Given the description of an element on the screen output the (x, y) to click on. 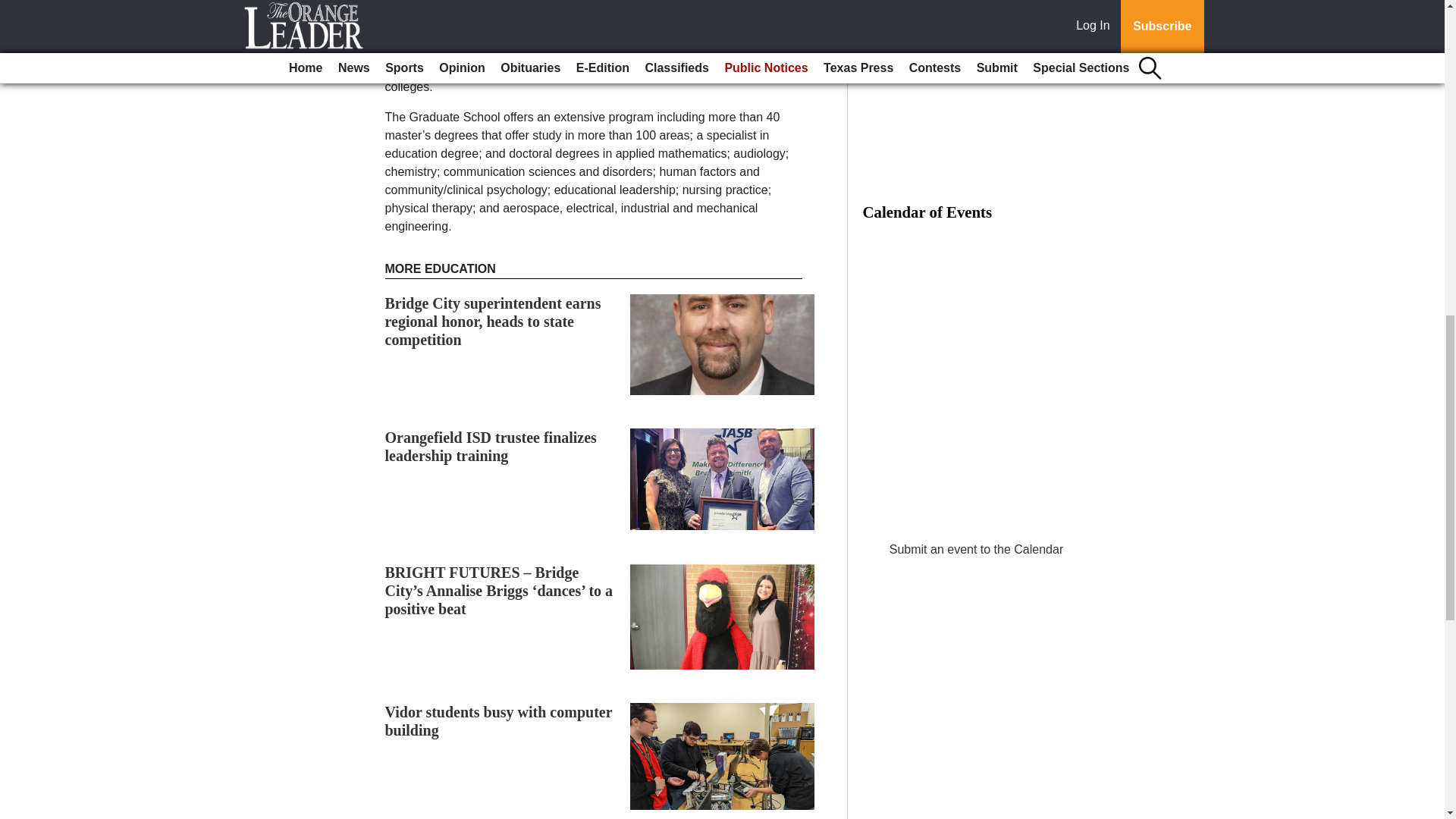
Orangefield ISD trustee finalizes leadership training (490, 446)
Vidor students busy with computer building (498, 720)
Orangefield ISD trustee finalizes leadership training (490, 446)
Vidor students busy with computer building (498, 720)
